Given the description of an element on the screen output the (x, y) to click on. 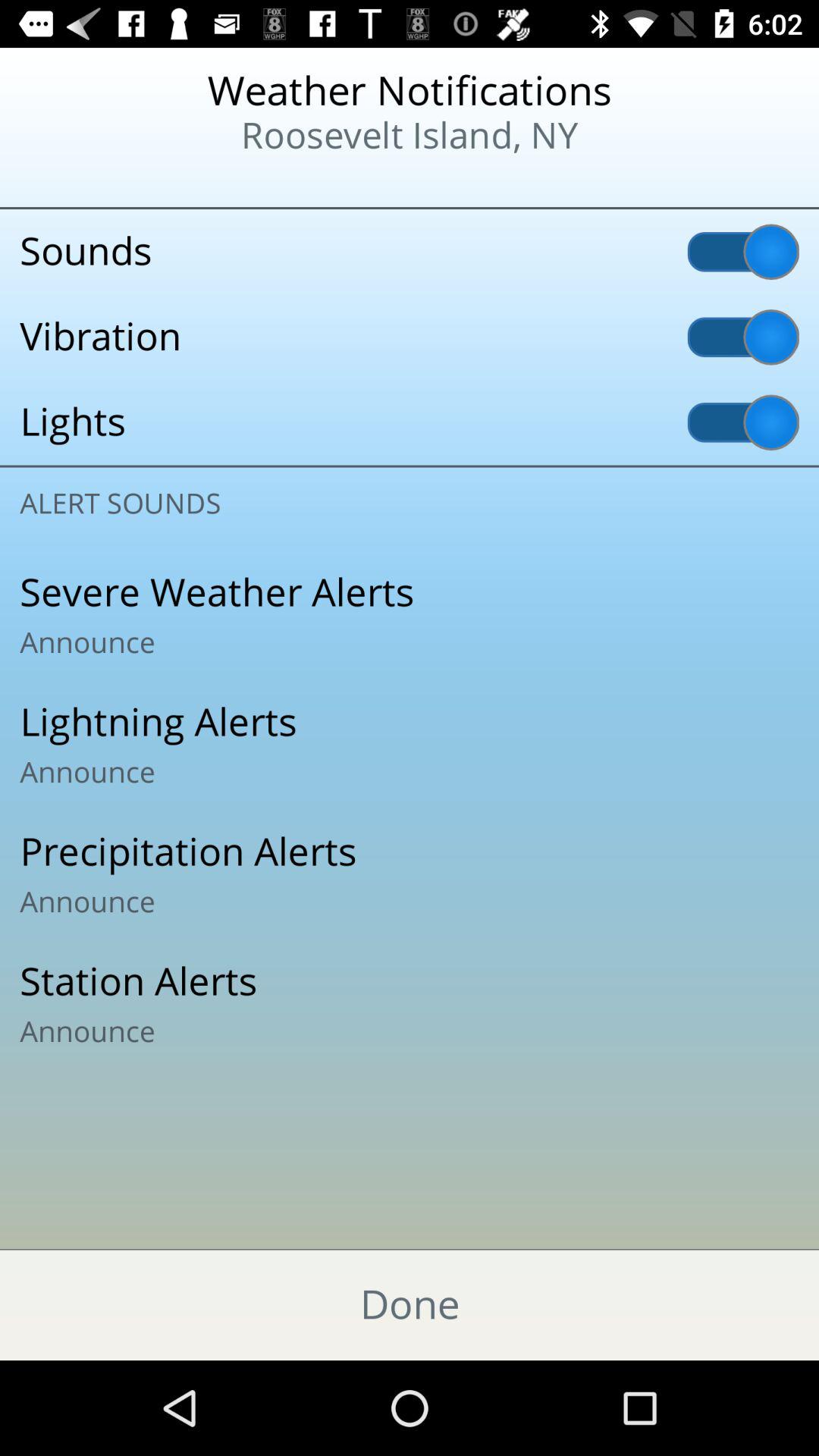
click icon below the alert sounds icon (409, 615)
